Given the description of an element on the screen output the (x, y) to click on. 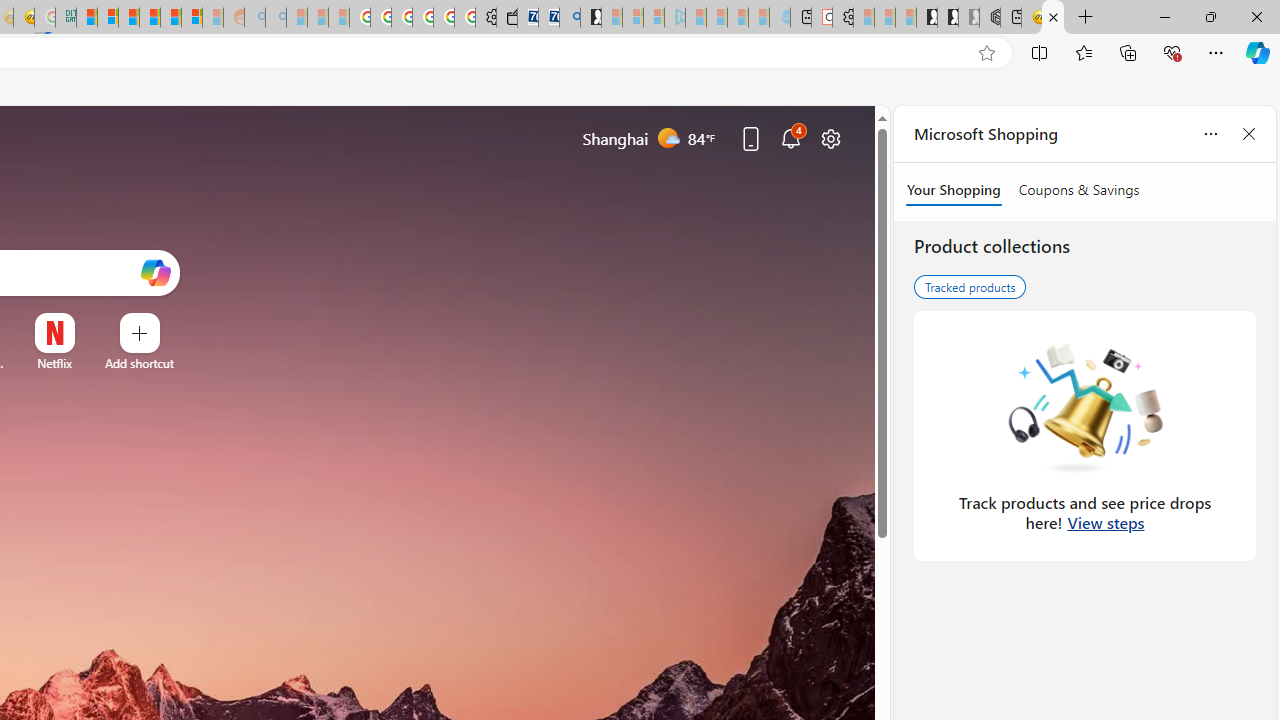
Kinda Frugal - MSN (170, 17)
Mostly sunny (667, 137)
Add a site (139, 363)
